Given the description of an element on the screen output the (x, y) to click on. 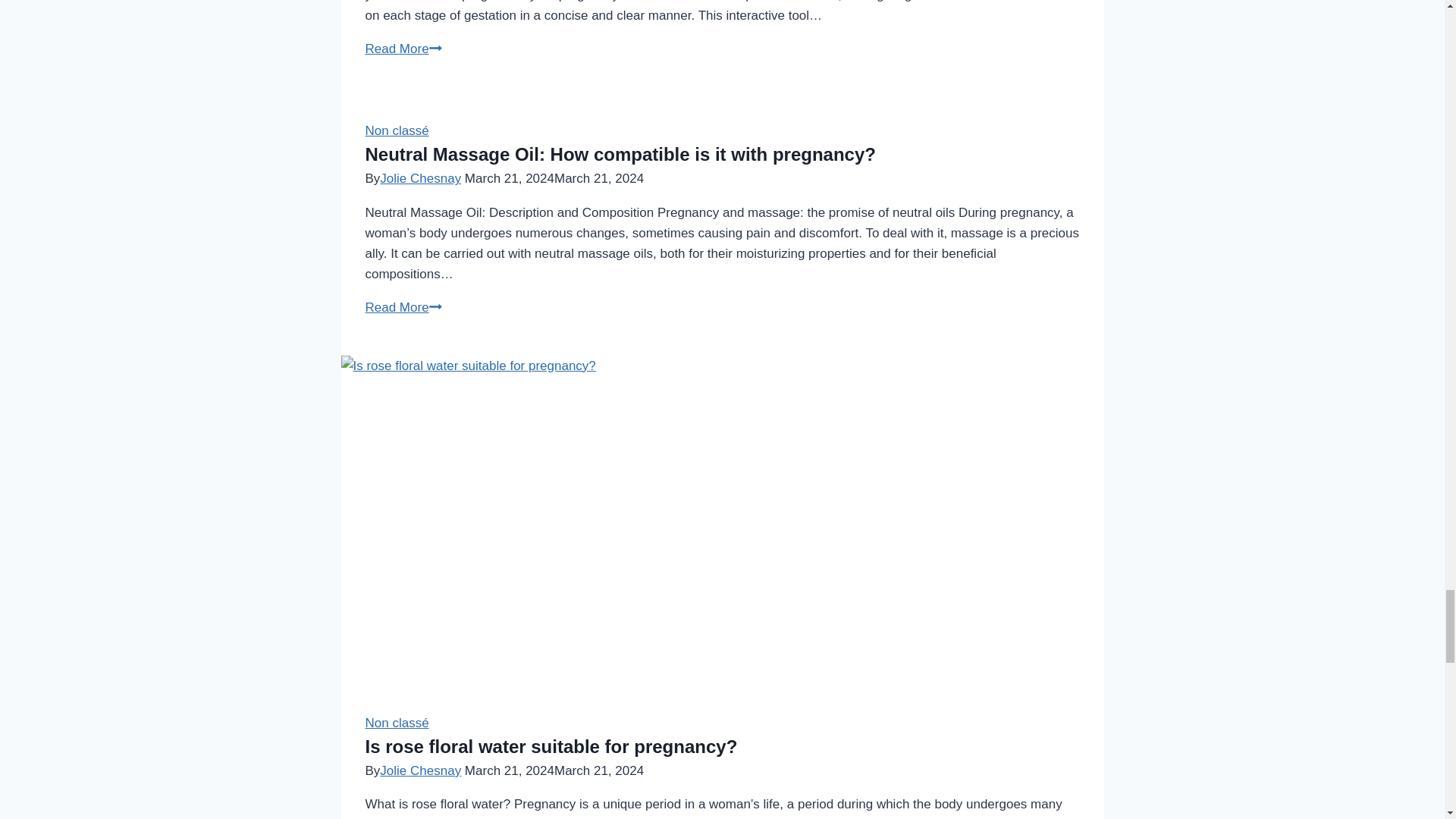
Neutral Massage Oil: How compatible is it with pregnancy? (620, 154)
Jolie Chesnay (420, 178)
Jolie Chesnay (420, 770)
Is rose floral water suitable for pregnancy? (551, 746)
